Given the description of an element on the screen output the (x, y) to click on. 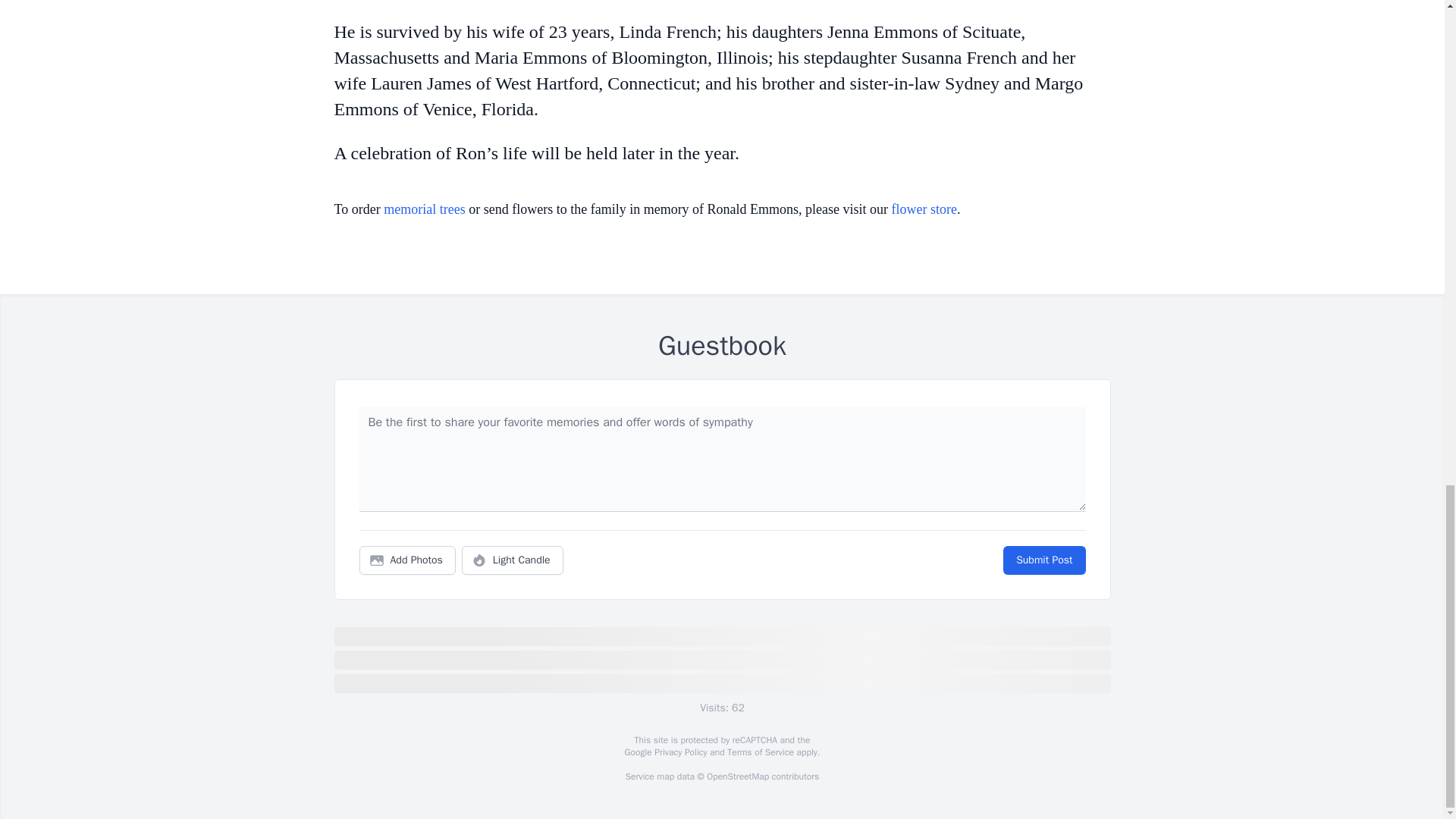
flower store (923, 209)
Privacy Policy (679, 752)
OpenStreetMap (737, 776)
Submit Post (1043, 560)
memorial trees (424, 209)
Add Photos (407, 560)
Terms of Service (759, 752)
Light Candle (512, 560)
